Given the description of an element on the screen output the (x, y) to click on. 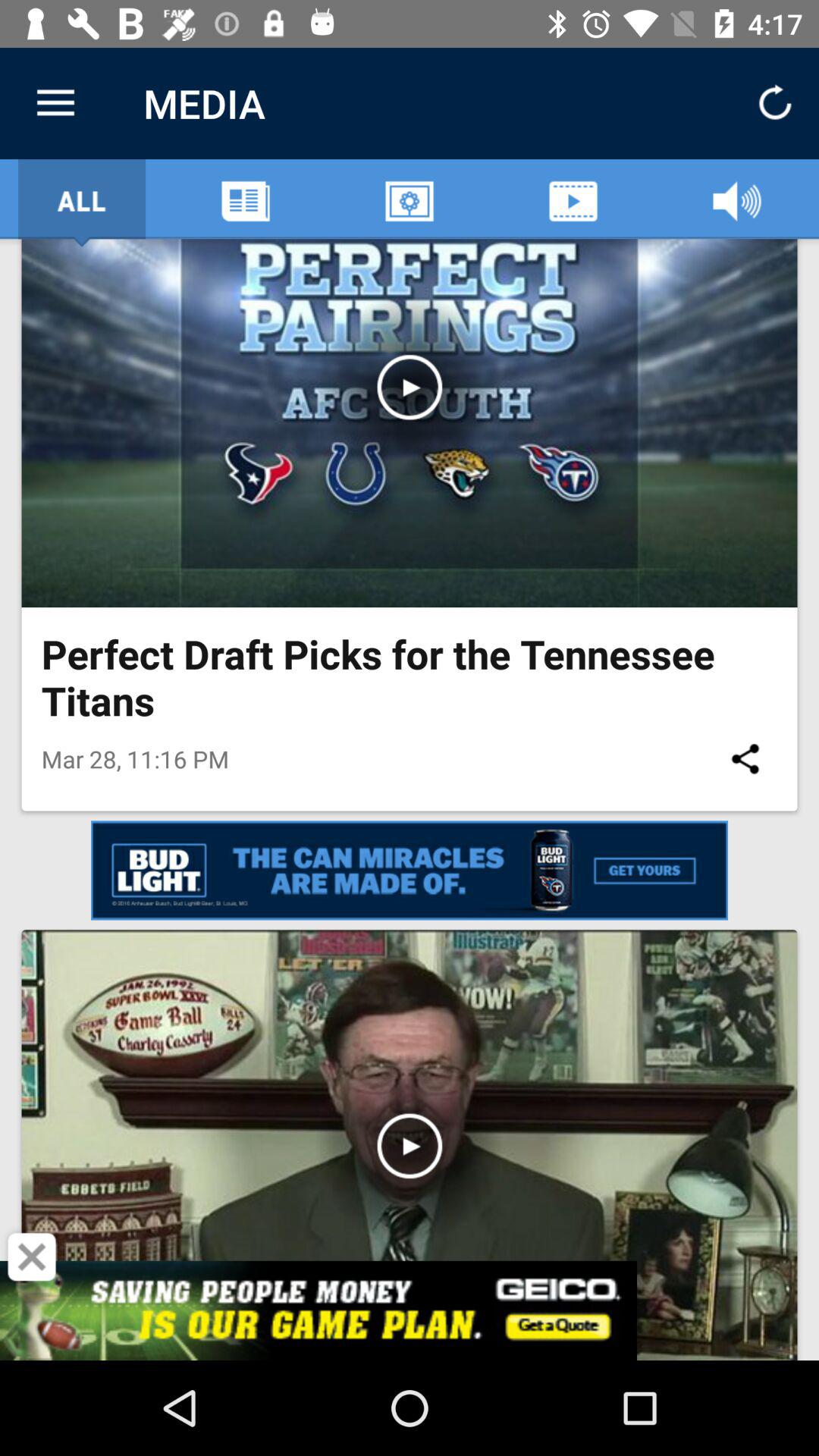
launch the icon next to mar 28 11 item (745, 758)
